Given the description of an element on the screen output the (x, y) to click on. 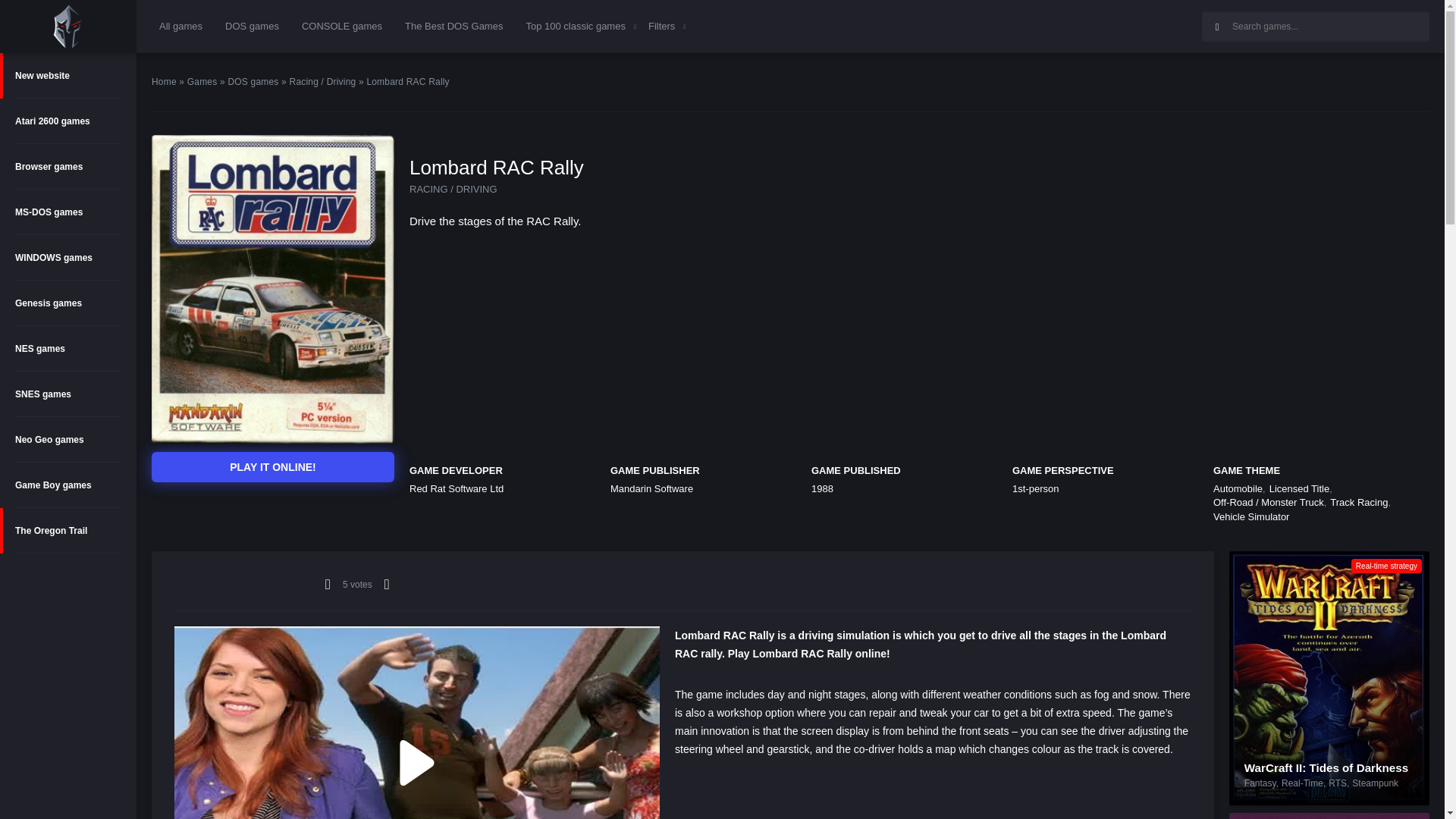
Advertisement (1064, 23)
The Best DOS Games (453, 25)
Advertisement (272, 505)
Top 100 classic games (575, 25)
Play Lombard RAC Rally online (272, 467)
Atari 2600 games (68, 121)
Filters (661, 25)
New website (68, 75)
Play Real-time strategy games online (1386, 565)
